Given the description of an element on the screen output the (x, y) to click on. 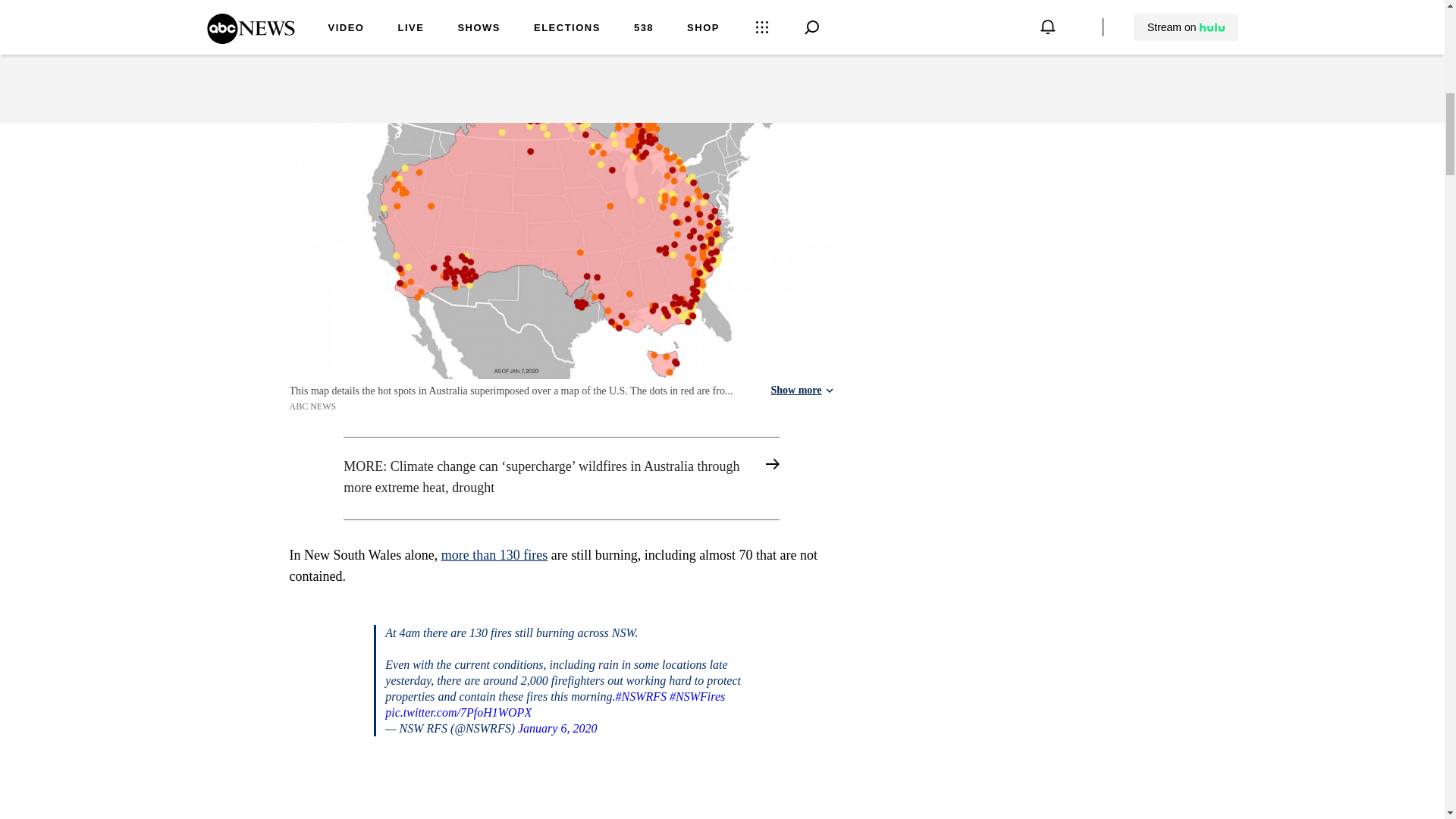
Show more (801, 390)
more than 130 fires (494, 554)
January 6, 2020 (557, 727)
